Given the description of an element on the screen output the (x, y) to click on. 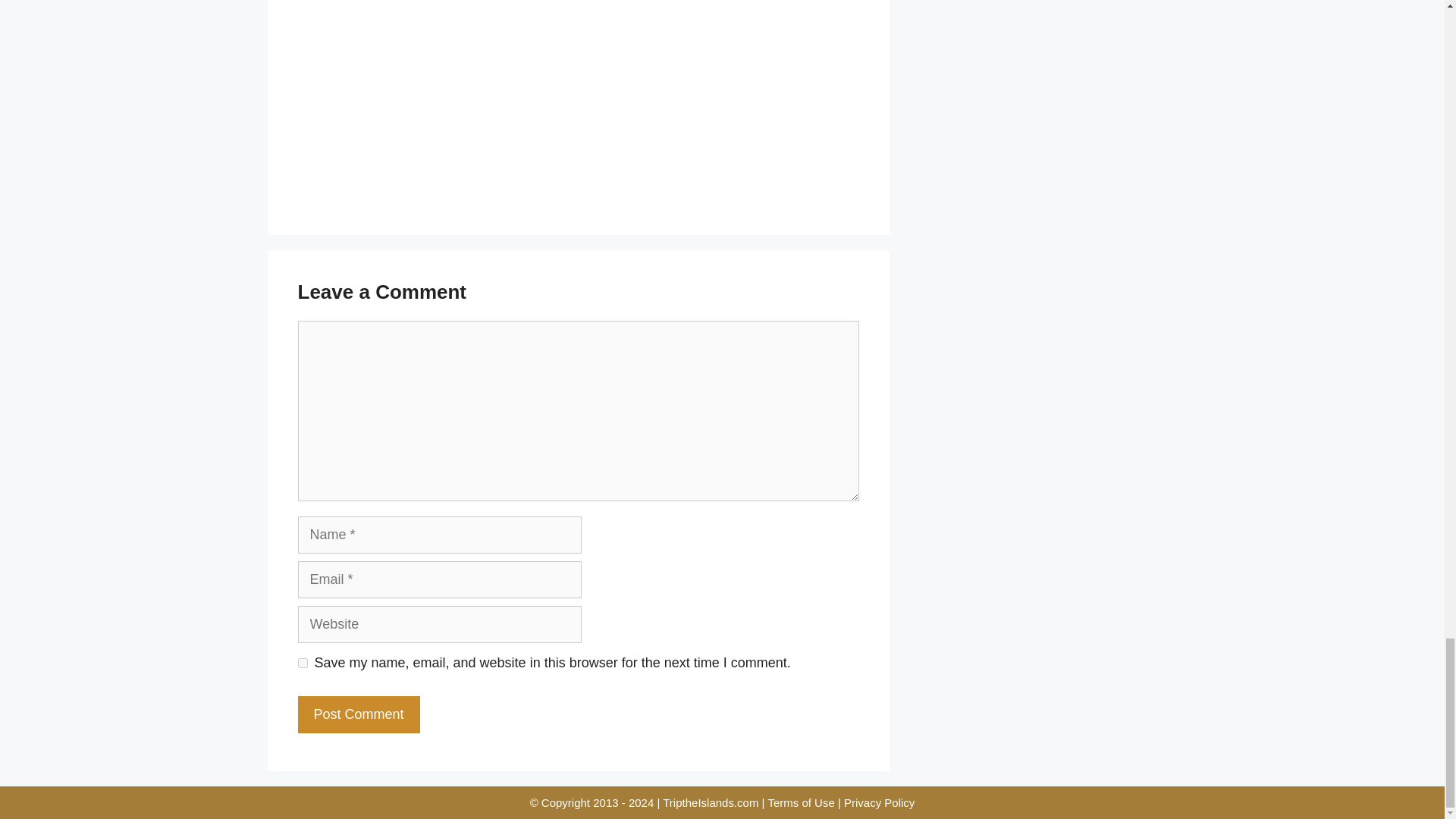
yes (302, 663)
Post Comment (358, 714)
Post Comment (358, 714)
